Given the description of an element on the screen output the (x, y) to click on. 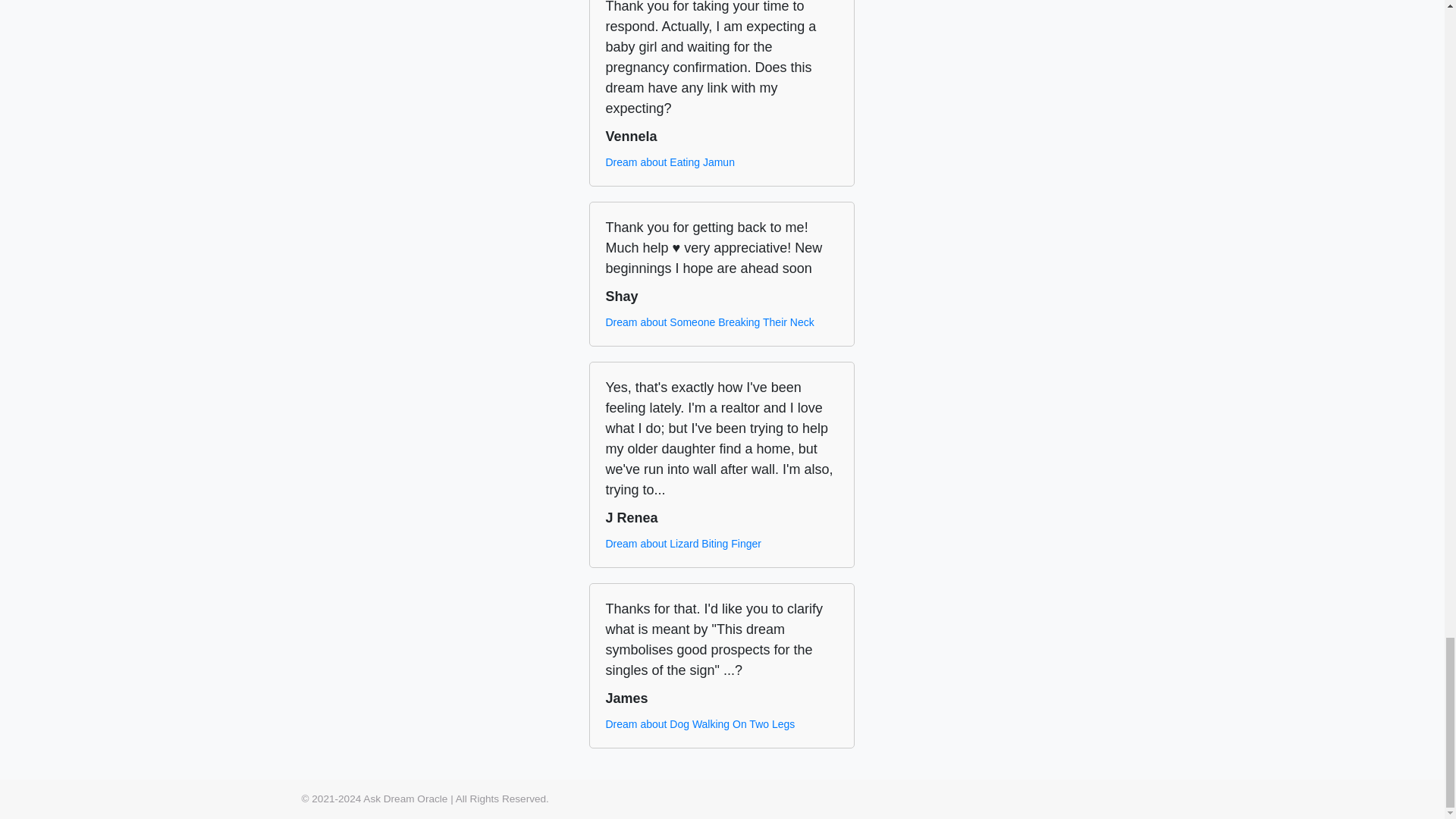
Ask Dream Oracle (404, 798)
Dream about Eating Jamun (669, 162)
Dream about Someone Breaking Their Neck (709, 322)
Dream about Dog Walking On Two Legs (699, 724)
Dream about Lizard Biting Finger (682, 544)
